Given the description of an element on the screen output the (x, y) to click on. 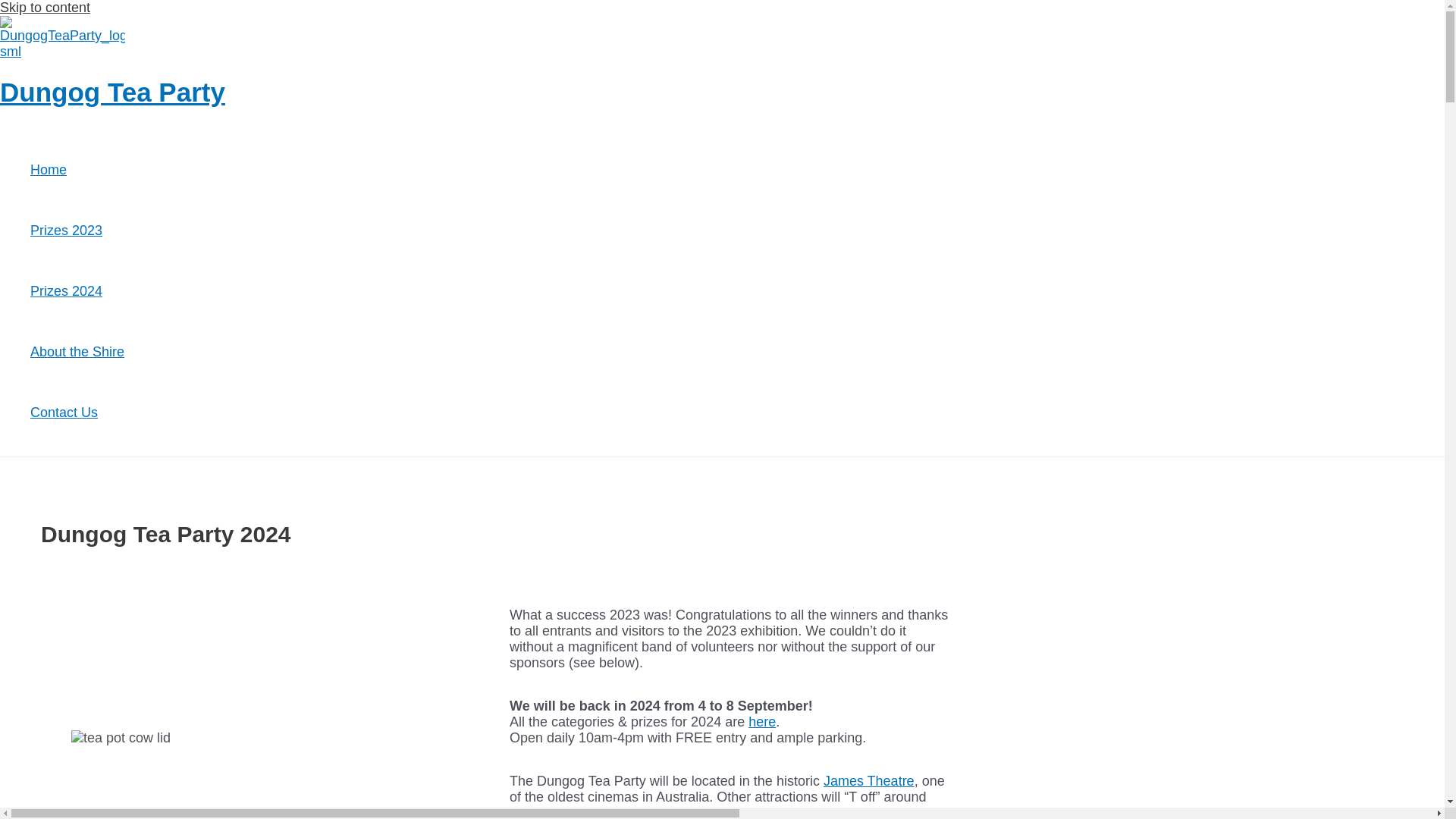
here Element type: text (761, 721)
Prizes 2023 Element type: text (77, 230)
Contact Us Element type: text (77, 412)
About the Shire Element type: text (77, 351)
Home Element type: text (77, 169)
Skip to content Element type: text (45, 7)
Prizes 2024 Element type: text (77, 290)
James Theatre Element type: text (868, 780)
Dungog Tea Party Element type: text (112, 91)
